Given the description of an element on the screen output the (x, y) to click on. 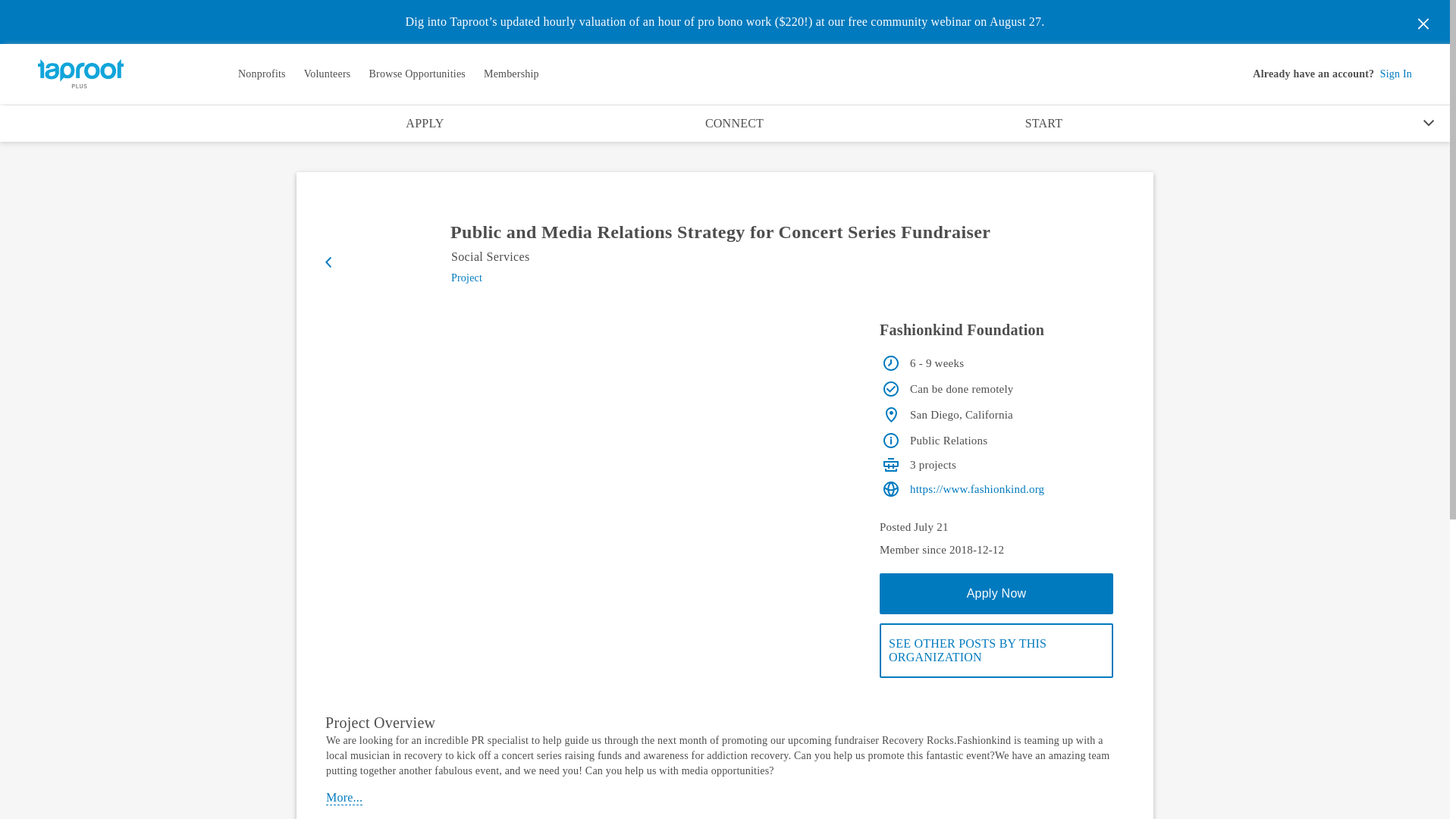
SEE OTHER POSTS BY THIS ORGANIZATION (996, 650)
Volunteers (327, 73)
More... (344, 798)
Sign In (1396, 73)
Browse Opportunities (416, 73)
Nonprofits (261, 73)
Membership (510, 73)
Apply Now (996, 593)
